Given the description of an element on the screen output the (x, y) to click on. 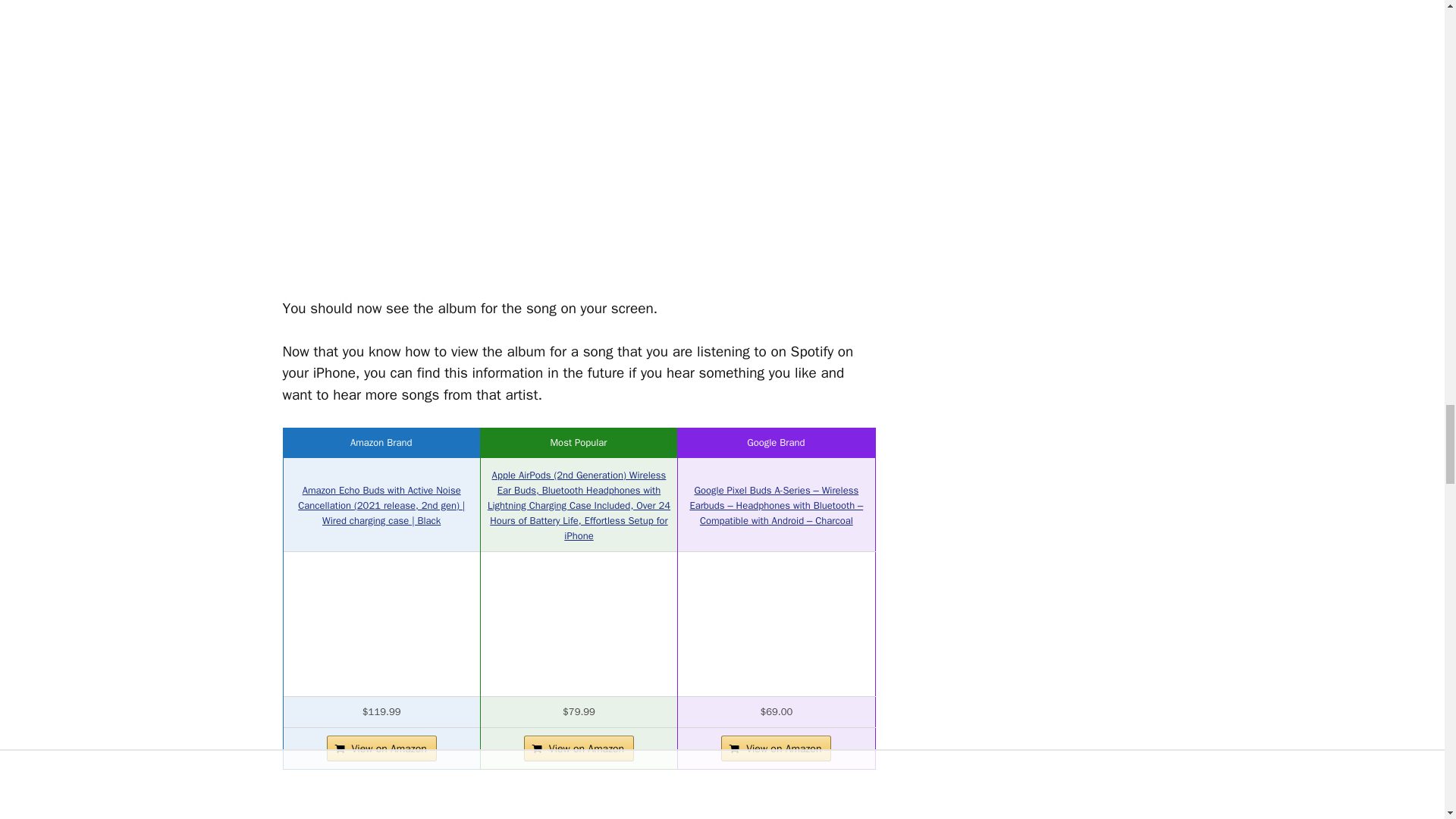
View on Amazon (578, 748)
View on Amazon (381, 748)
View on Amazon (775, 748)
